Given the description of an element on the screen output the (x, y) to click on. 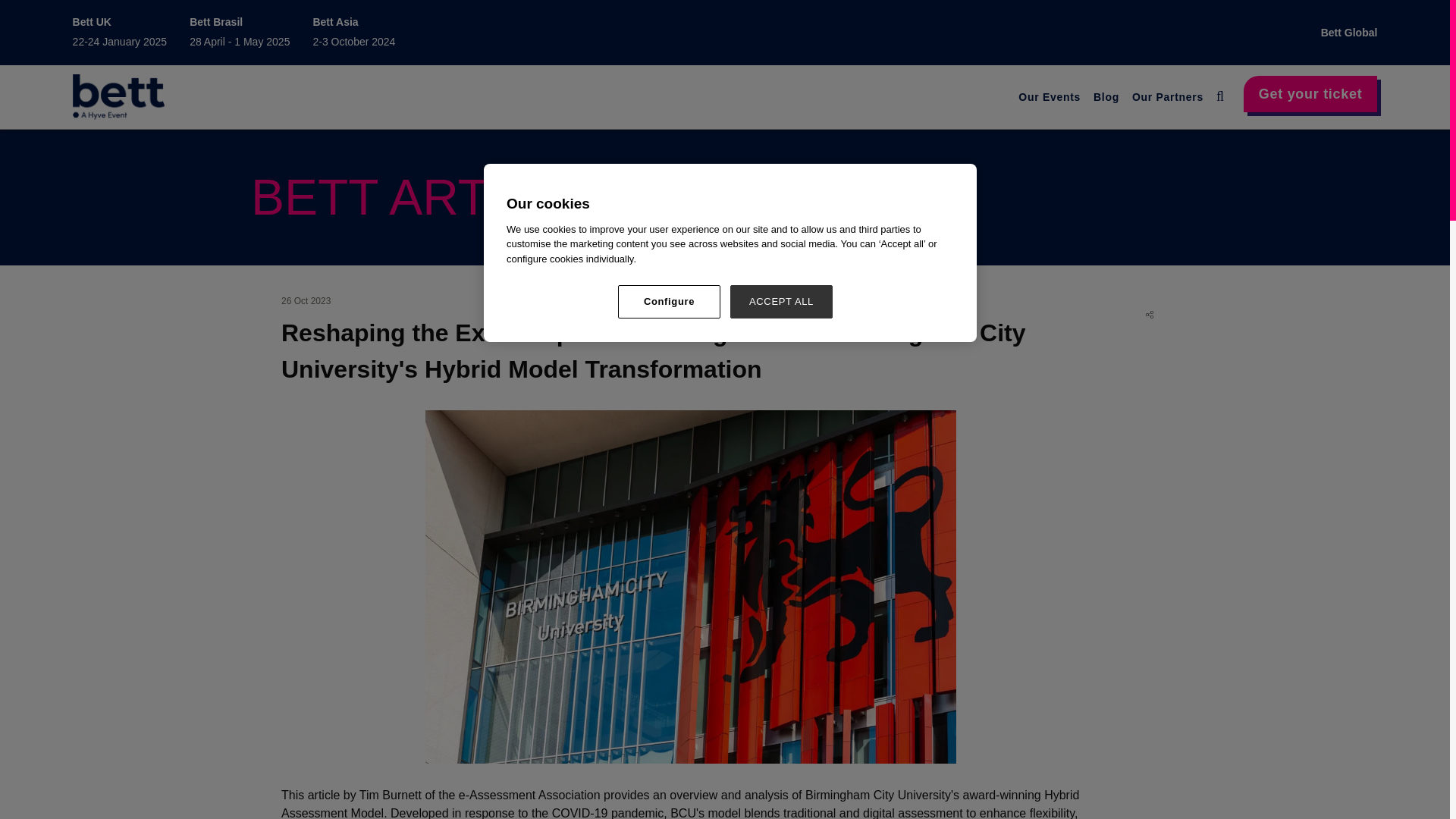
22-24 January 2025 (119, 41)
28 April - 1 May 2025 (239, 41)
Our Partners (1167, 96)
Our Events (1048, 96)
Get your ticket (1310, 94)
Our Events (1048, 96)
2-3 October 2024 (353, 41)
